Given the description of an element on the screen output the (x, y) to click on. 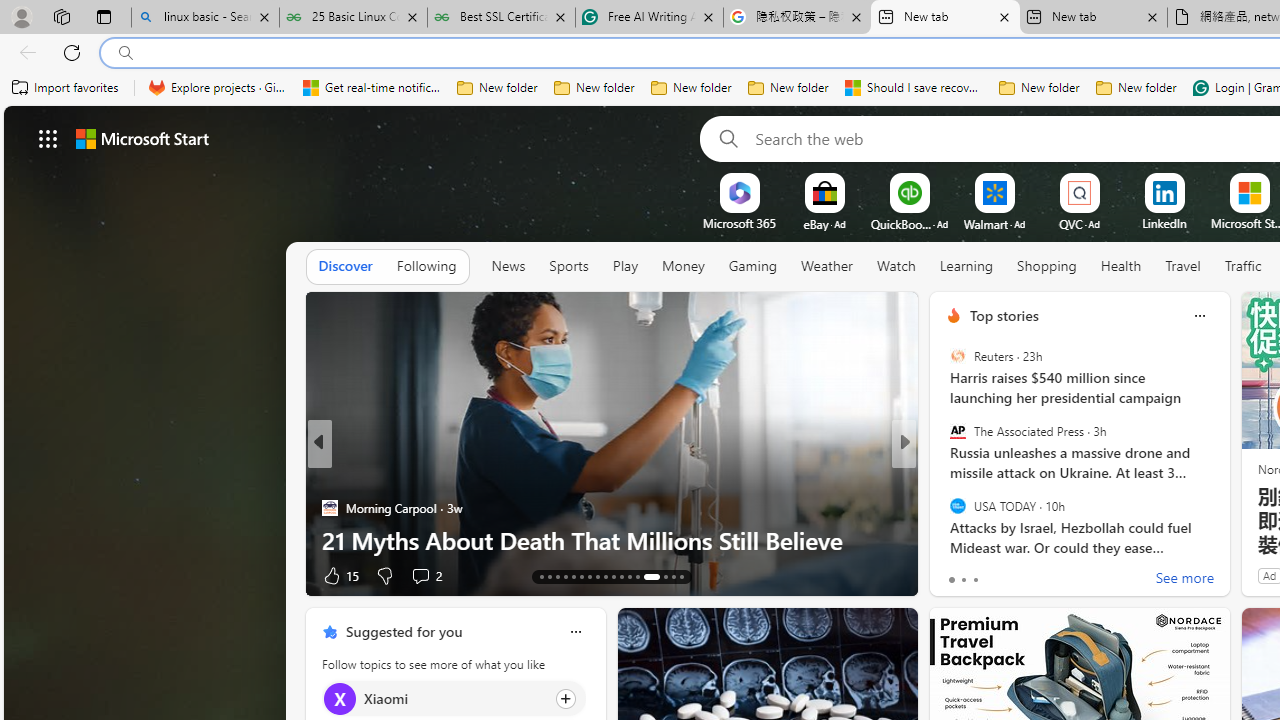
Traffic (1242, 267)
Gaming (752, 265)
Search icon (125, 53)
tab-2 (974, 579)
Learning (965, 265)
Free AI Writing Assistance for Students | Grammarly (649, 17)
Shopping (1046, 267)
Class: icon-img (575, 632)
AutomationID: tab-15 (556, 576)
Play (625, 265)
AutomationID: tab-20 (596, 576)
